Given the description of an element on the screen output the (x, y) to click on. 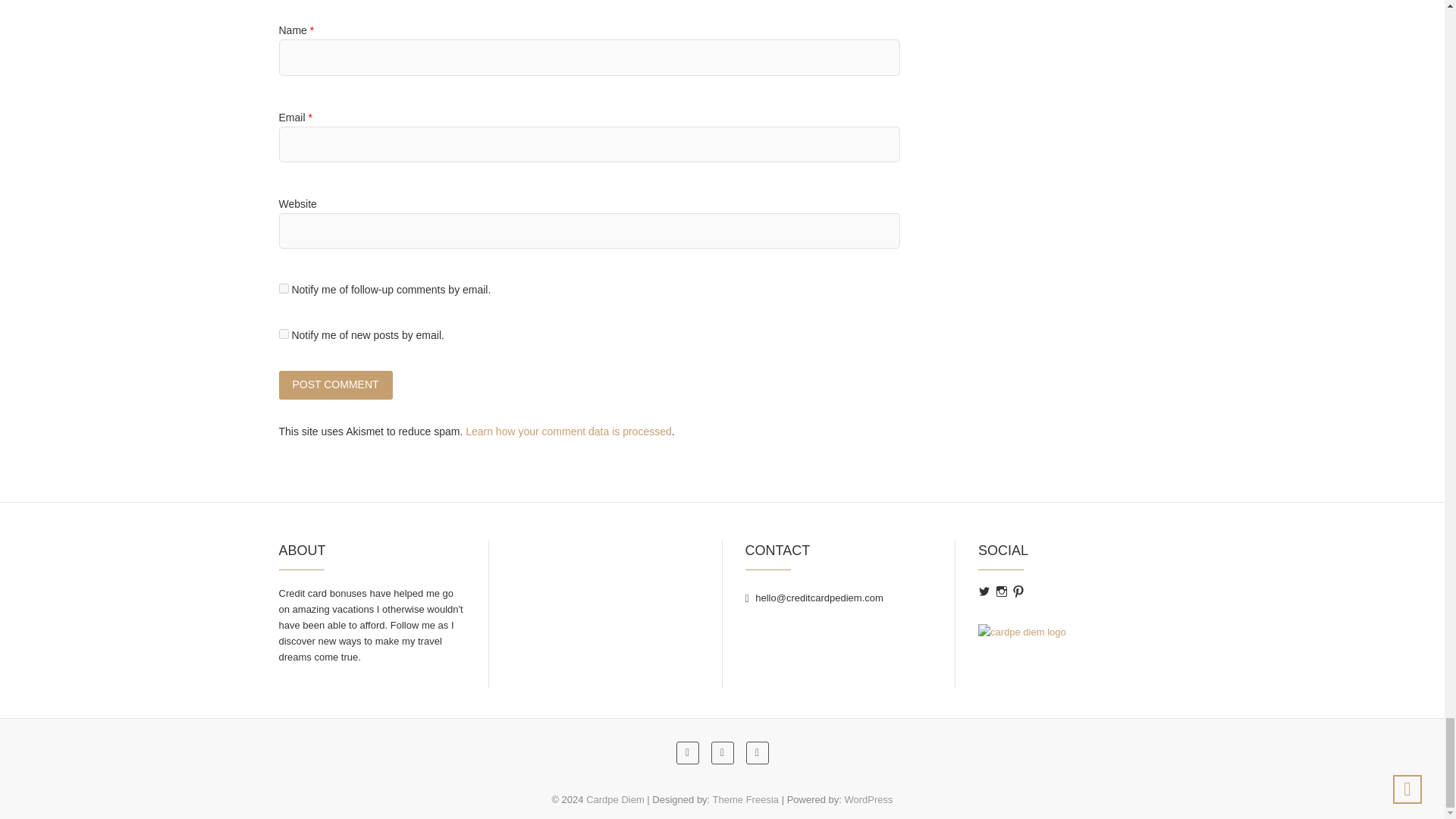
subscribe (283, 288)
subscribe (283, 334)
Cardpe Diem (615, 799)
Theme Freesia (745, 799)
Post Comment (336, 384)
